Given the description of an element on the screen output the (x, y) to click on. 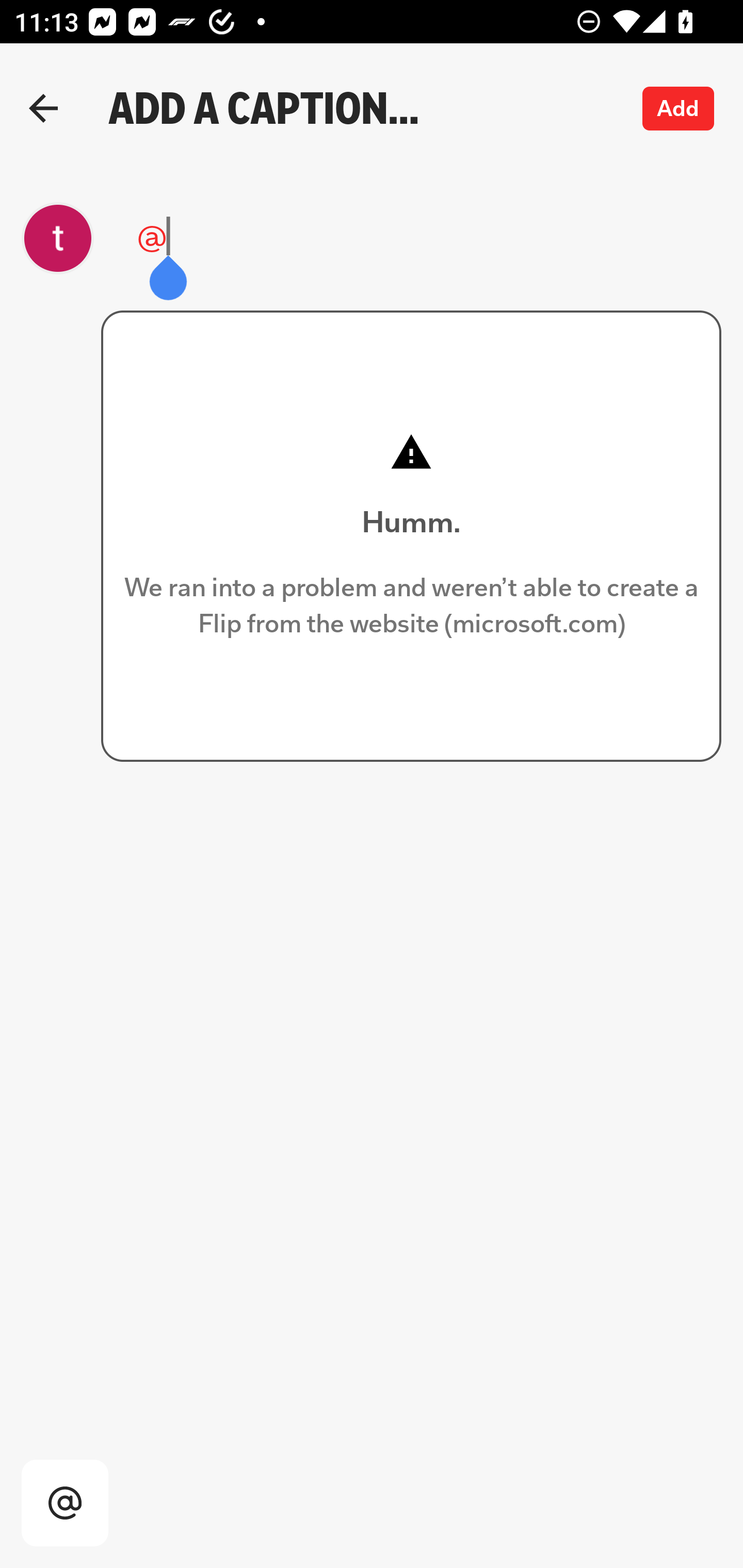
Add (678, 108)
@ (360, 238)
